Given the description of an element on the screen output the (x, y) to click on. 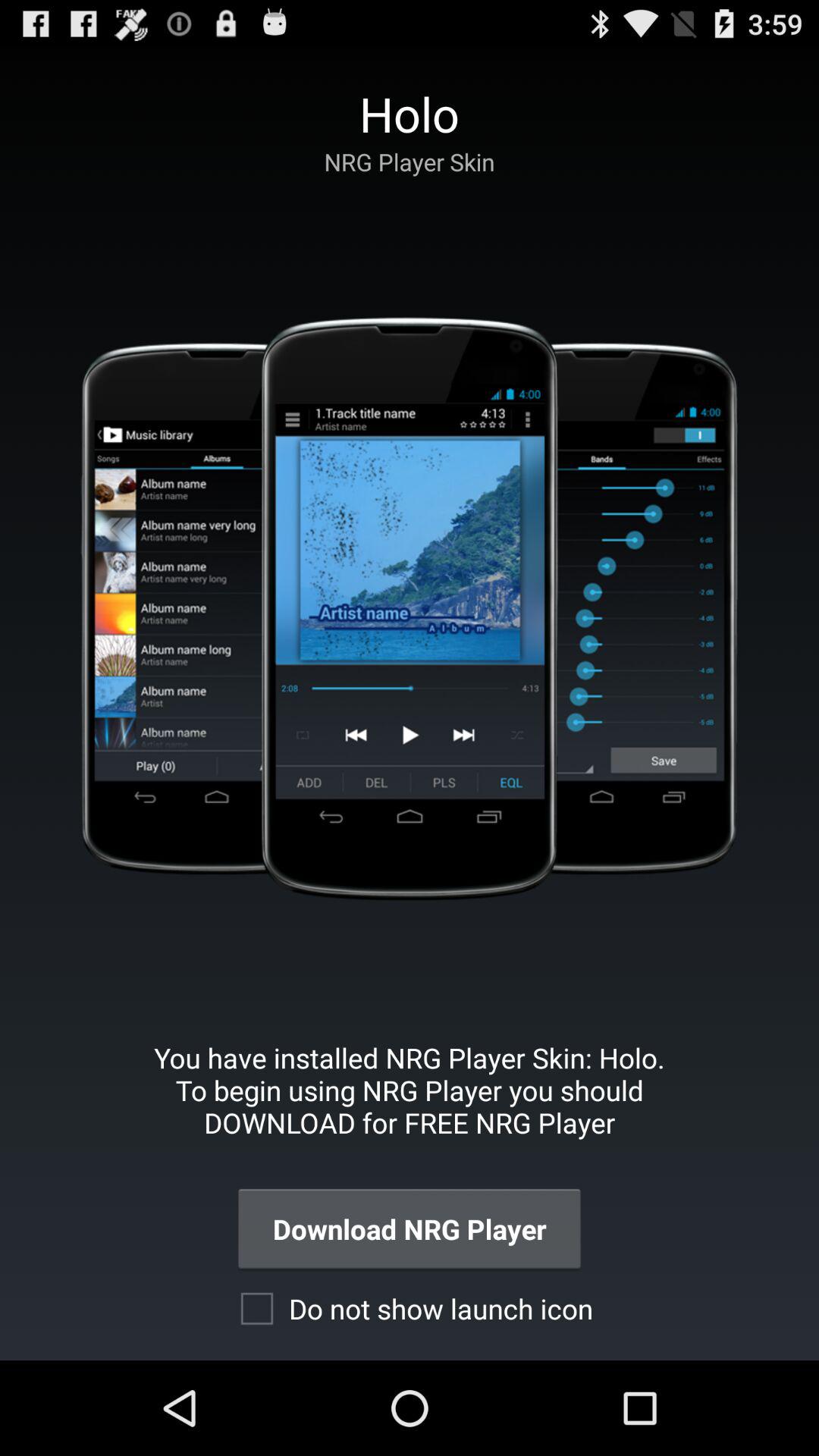
swipe to do not show item (409, 1308)
